Given the description of an element on the screen output the (x, y) to click on. 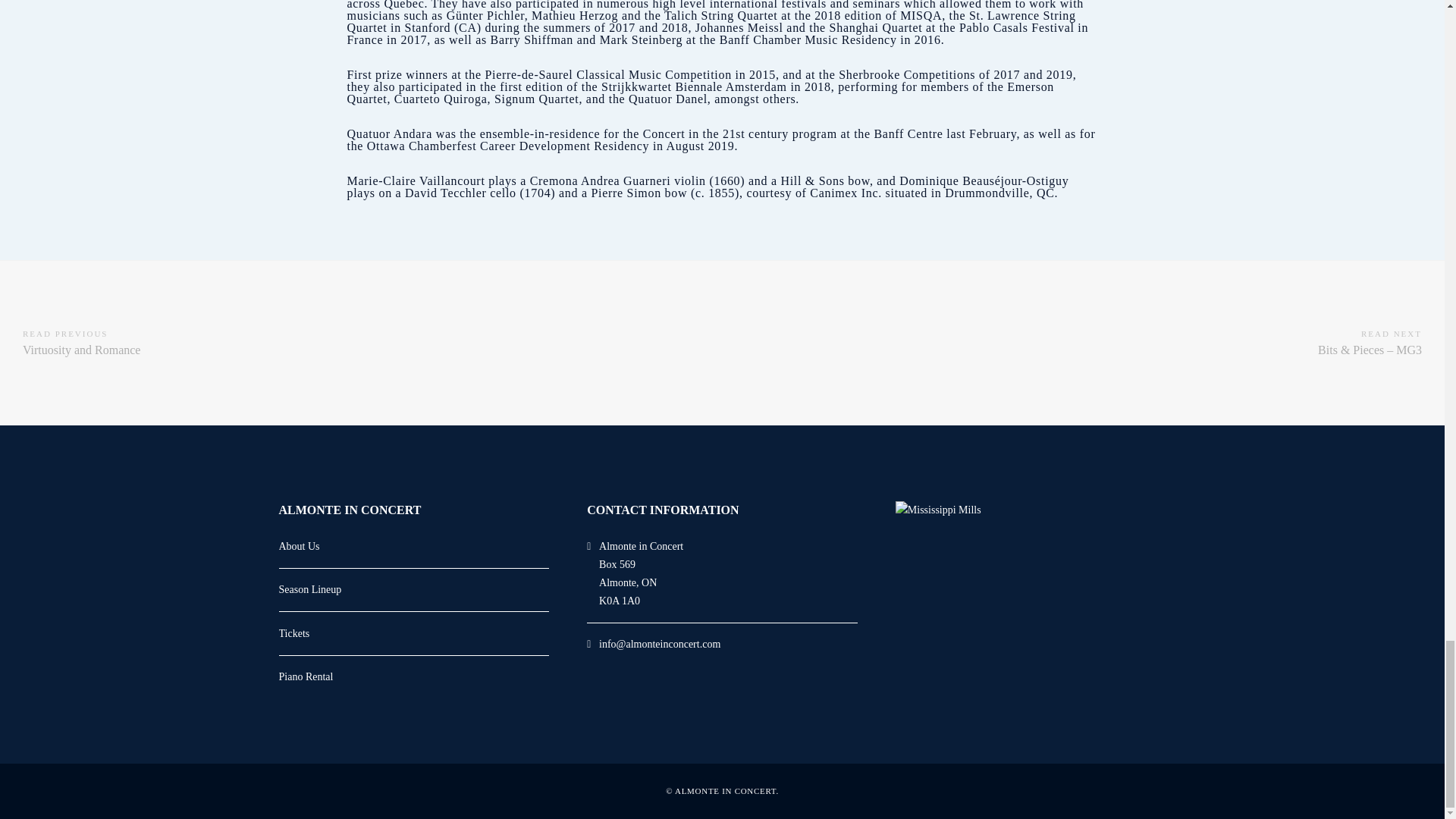
Season Lineup (414, 595)
About Us (414, 552)
Piano Rental (81, 342)
Tickets (414, 683)
